Given the description of an element on the screen output the (x, y) to click on. 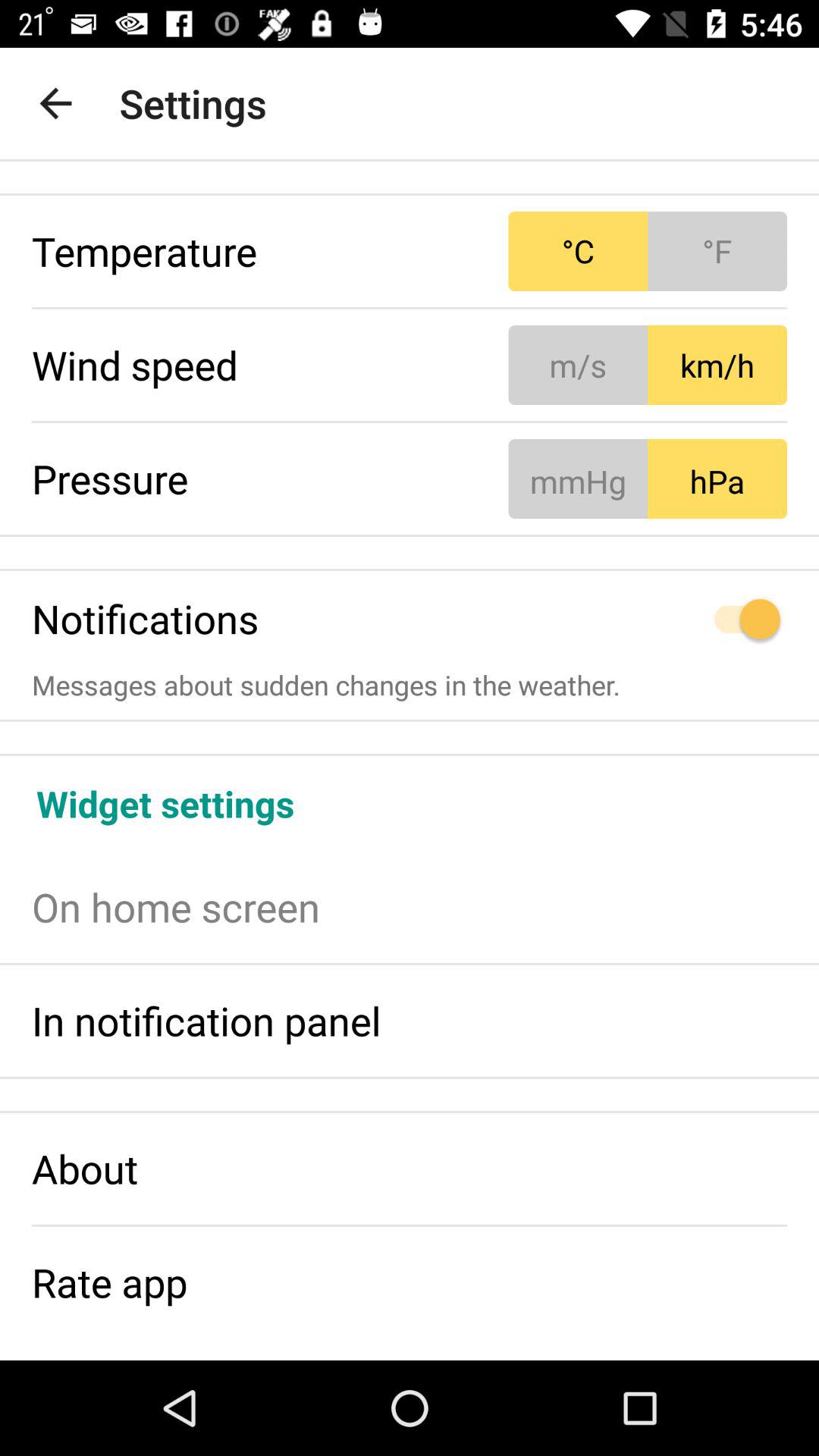
jump to the on home screen item (409, 906)
